Given the description of an element on the screen output the (x, y) to click on. 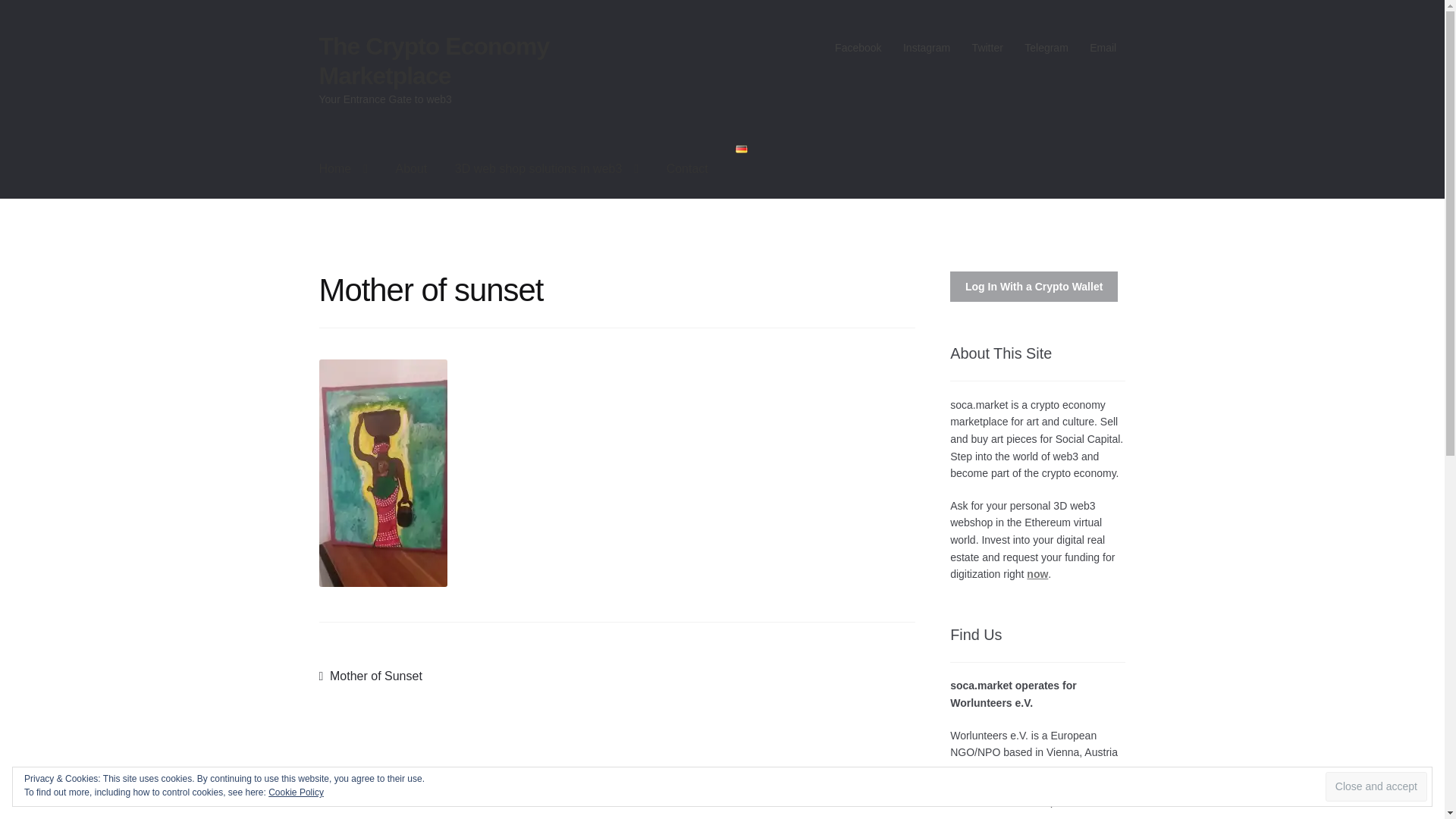
The Crypto Economy Marketplace (434, 60)
Instagram (926, 47)
Telegram (1045, 47)
Contact (686, 169)
About (411, 169)
3D web shop solutions in web3 (546, 169)
Email (1102, 47)
Home (343, 169)
Facebook (858, 47)
Close and accept (1375, 786)
Twitter (986, 47)
